Given the description of an element on the screen output the (x, y) to click on. 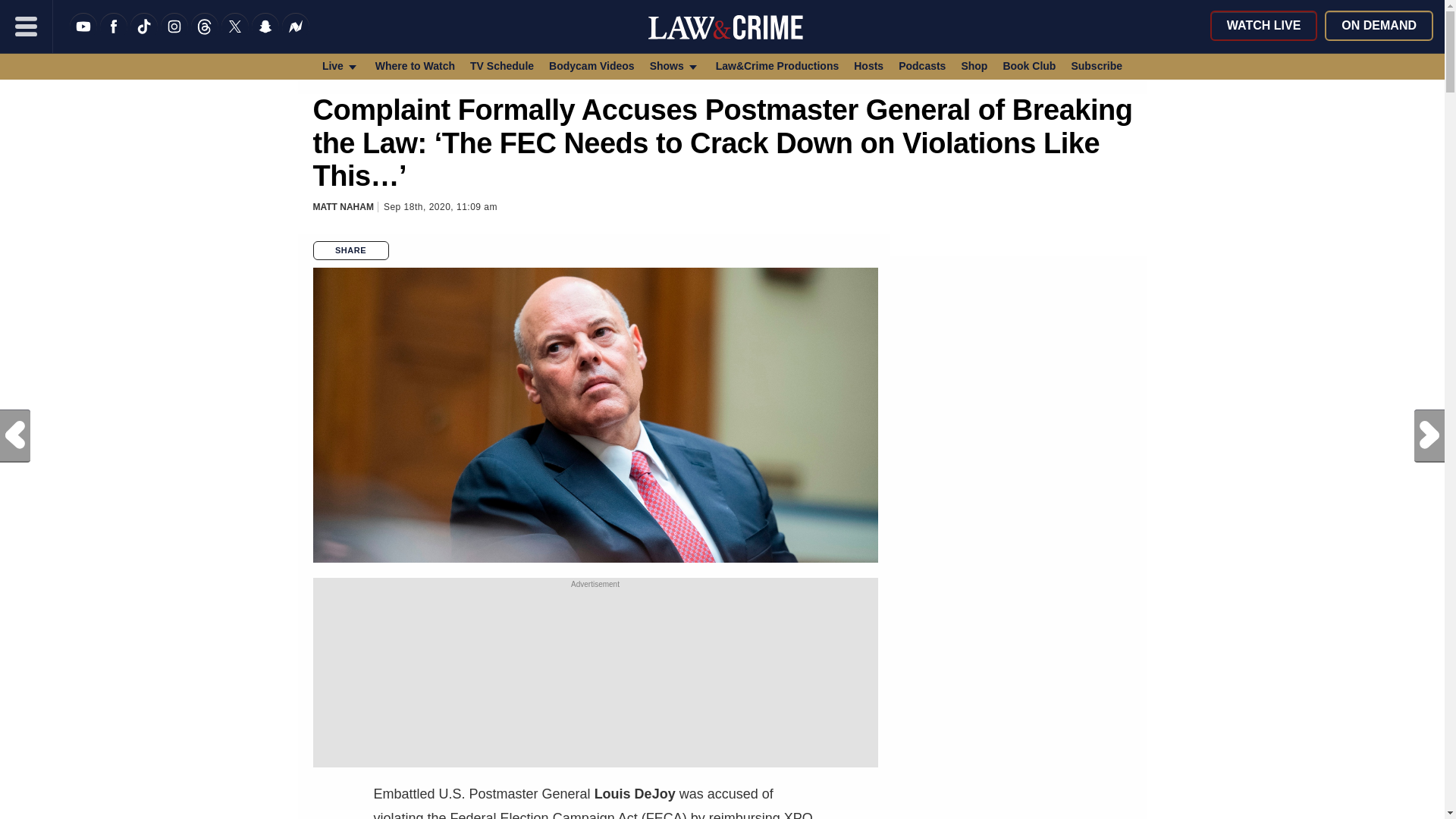
Posts by Matt Naham (342, 206)
Snapchat (265, 35)
YouTube (83, 35)
Threads (204, 35)
TikTok (144, 35)
Instagram (173, 35)
Like us on Facebook (114, 35)
News Break (295, 35)
